Given the description of an element on the screen output the (x, y) to click on. 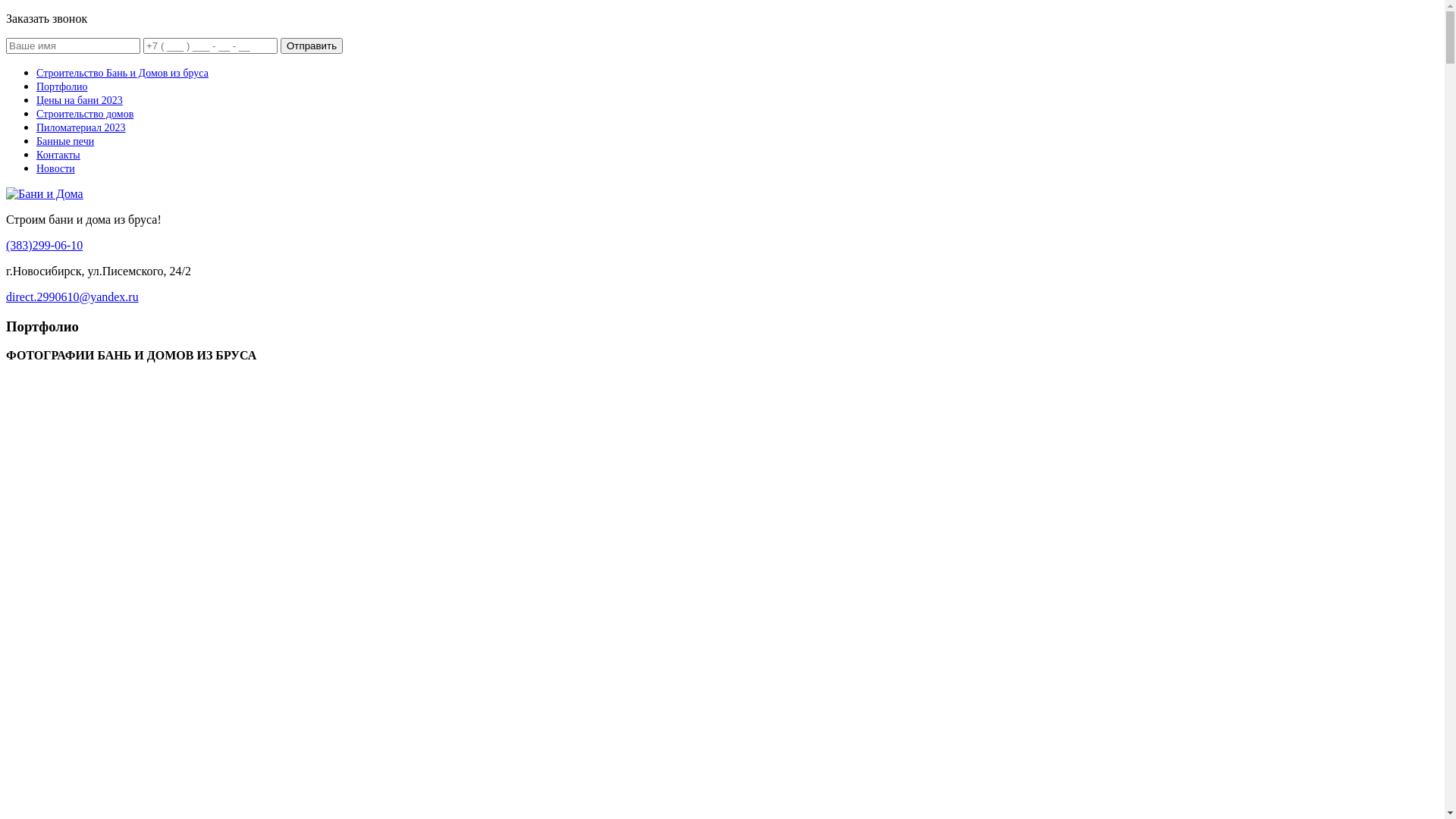
direct.2990610@yandex.ru Element type: text (72, 296)
(383)299-06-10 Element type: text (44, 244)
